Given the description of an element on the screen output the (x, y) to click on. 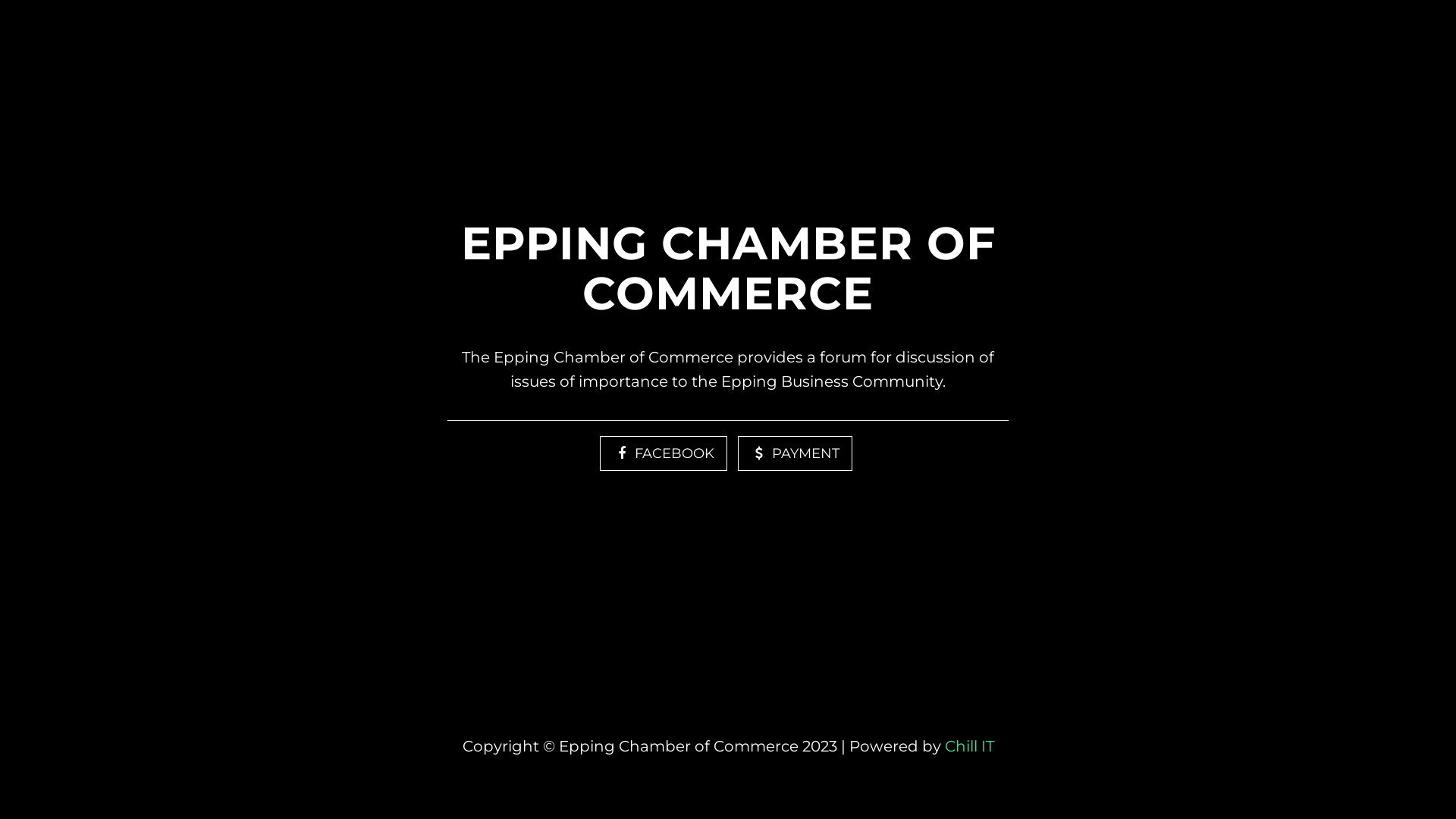
FACEBOOK Element type: text (662, 452)
PAYMENT Element type: text (794, 452)
Chill IT Element type: text (969, 746)
